Given the description of an element on the screen output the (x, y) to click on. 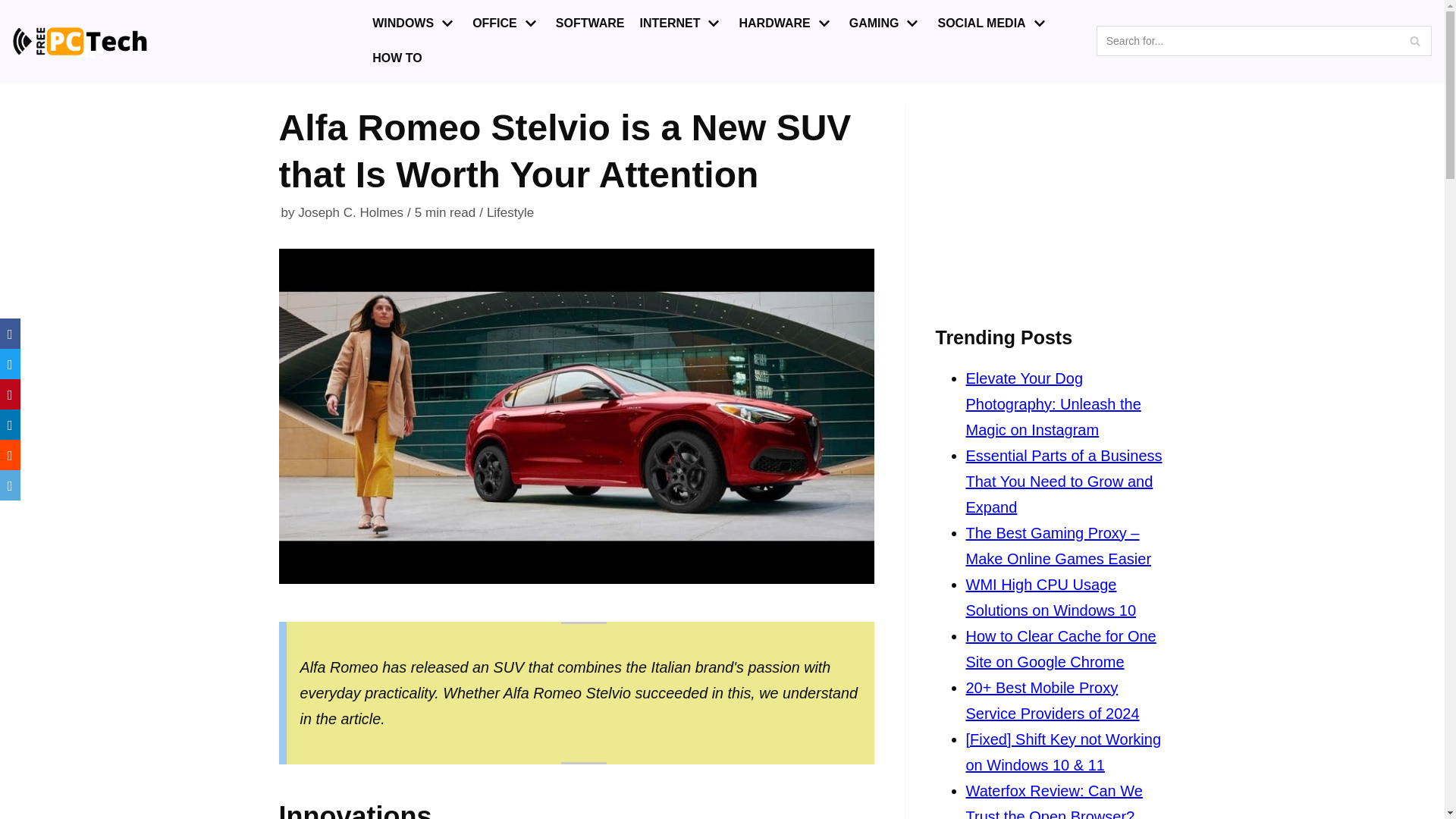
Skip to content (15, 7)
Posts by Joseph C. Holmes (350, 212)
INTERNET (681, 23)
OFFICE (505, 23)
SOFTWARE (590, 23)
Free PC Tech (79, 40)
GAMING (885, 23)
HARDWARE (785, 23)
HOW TO (397, 57)
SOCIAL MEDIA (992, 23)
WINDOWS (414, 23)
Advertisement (1051, 199)
